Given the description of an element on the screen output the (x, y) to click on. 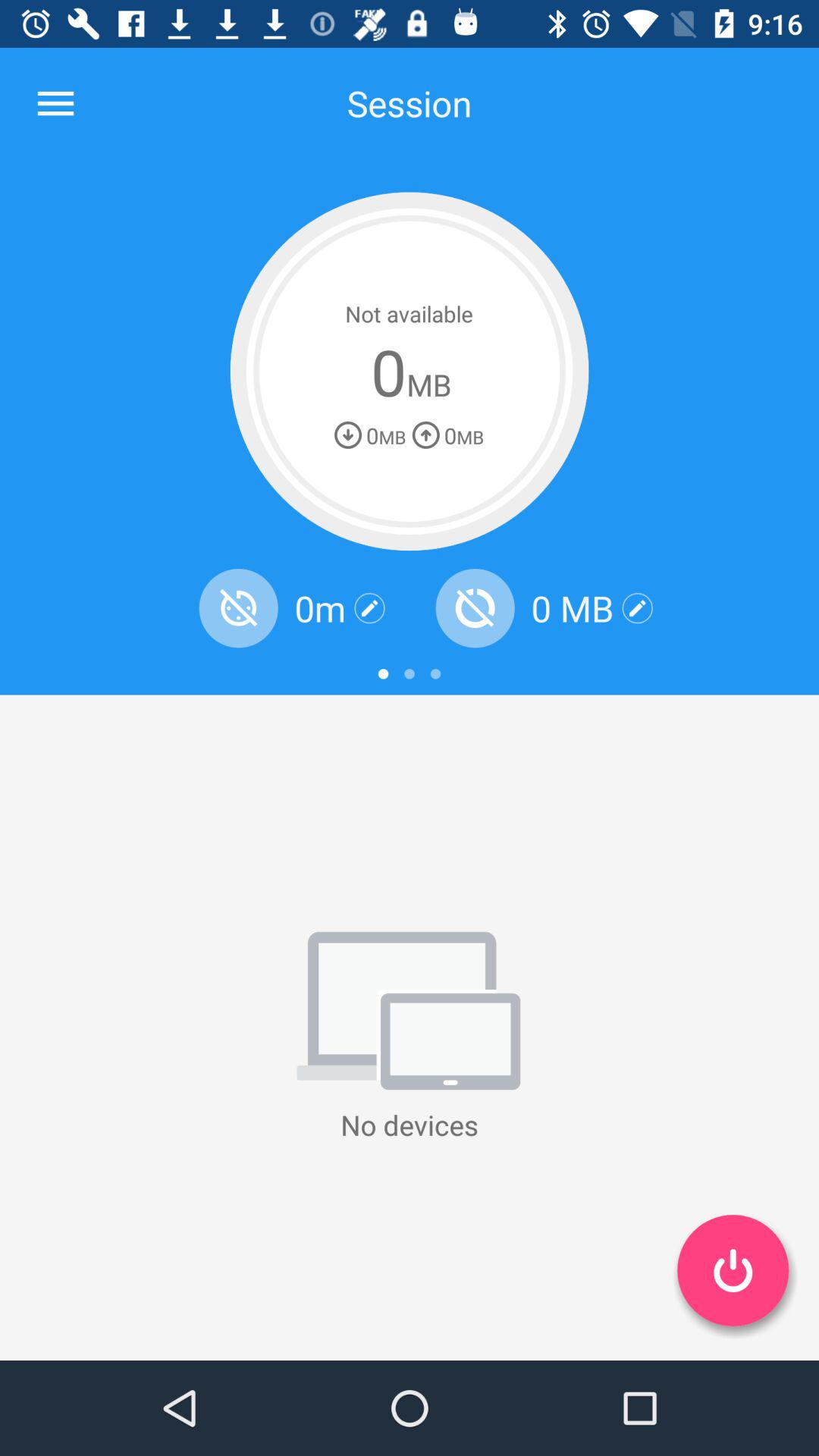
click 0 mb item (572, 608)
